Given the description of an element on the screen output the (x, y) to click on. 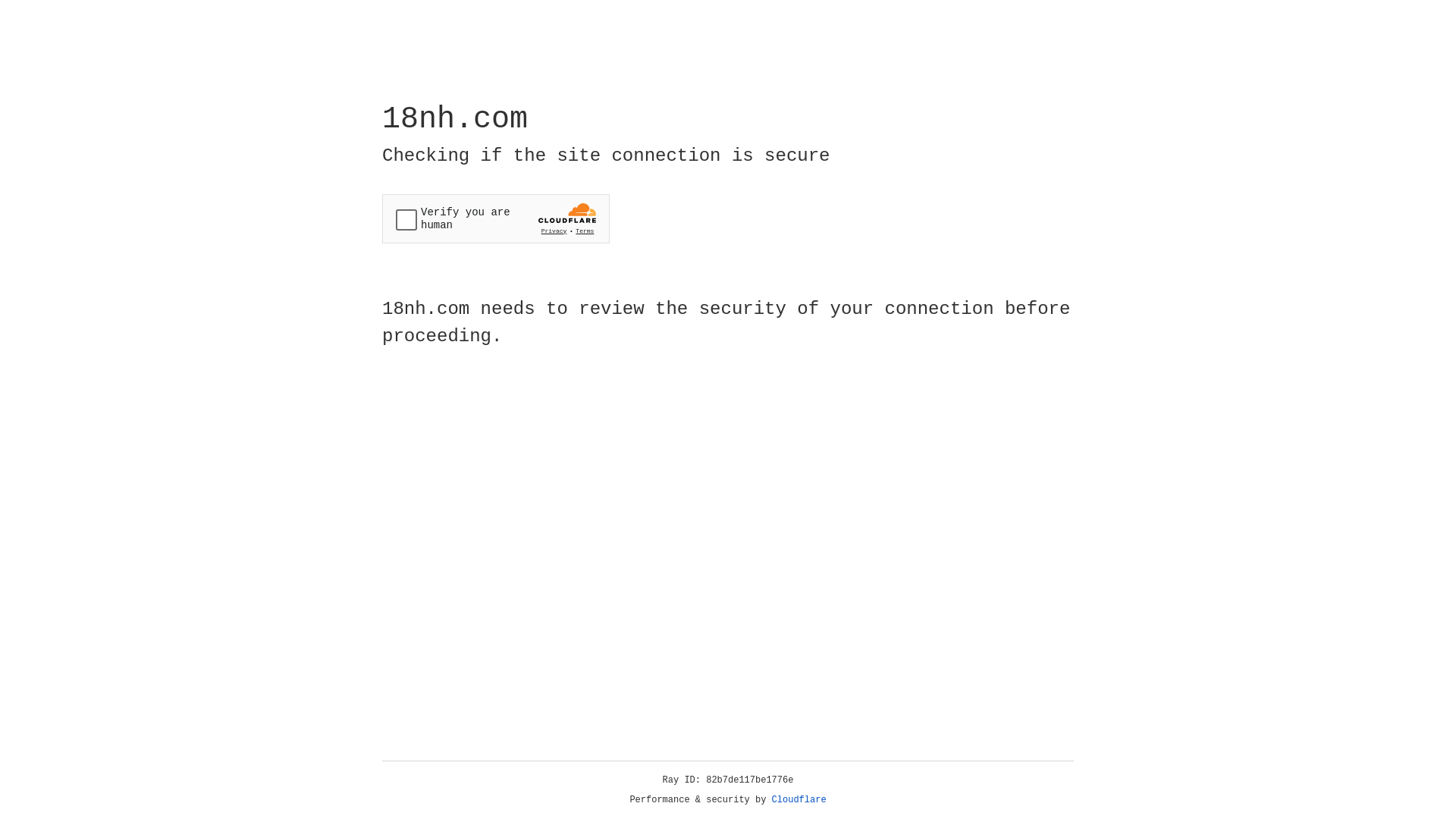
Widget containing a Cloudflare security challenge Element type: hover (495, 218)
Cloudflare Element type: text (798, 799)
